Given the description of an element on the screen output the (x, y) to click on. 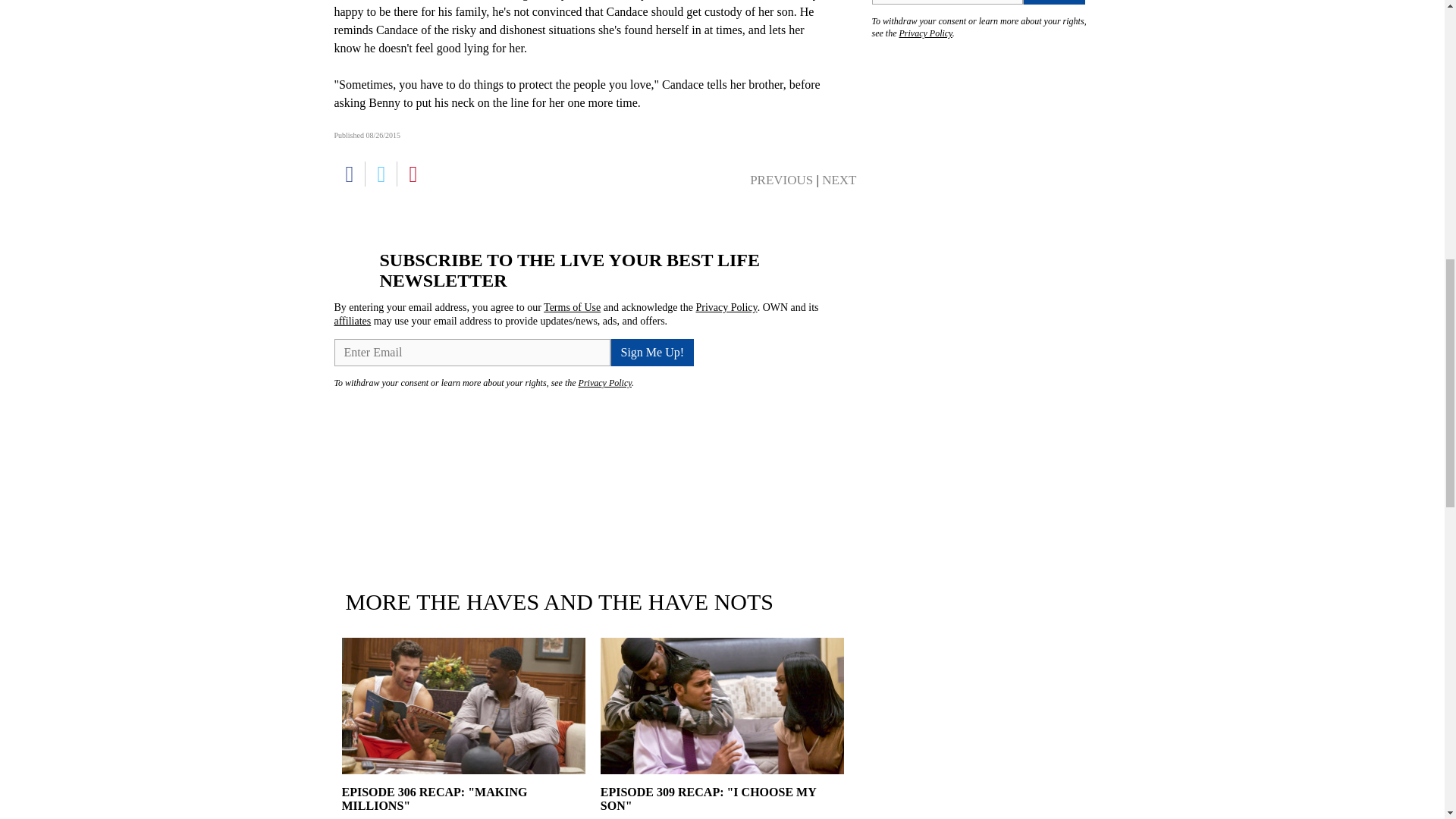
affiliates (352, 320)
PREVIOUS (780, 179)
EPISODE 306 RECAP: "MAKING MILLIONS" (462, 796)
Privacy Policy (604, 382)
Terms of Use (571, 307)
EPISODE 309 RECAP: "I CHOOSE MY SON" (721, 796)
Privacy Policy (925, 32)
NEXT (839, 179)
Privacy Policy (726, 307)
